Given the description of an element on the screen output the (x, y) to click on. 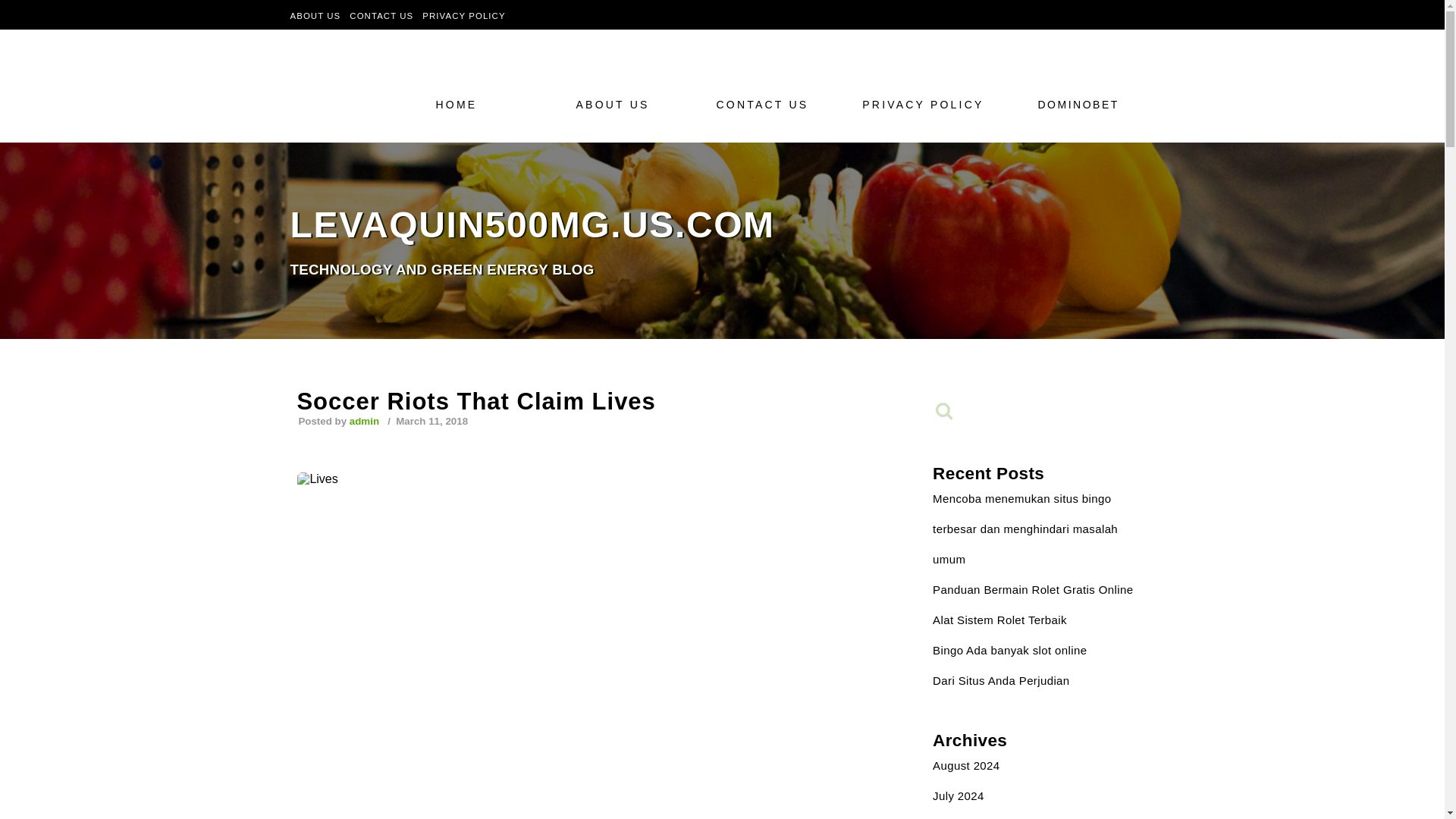
DOMINOBET (1084, 104)
PRIVACY POLICY (926, 104)
July 2024 (958, 795)
PRIVACY POLICY (463, 15)
CONTACT US (766, 104)
March 11, 2018 (430, 420)
CONTACT US (381, 15)
ABOUT US (721, 210)
Bingo Ada banyak slot online (314, 15)
Panduan Bermain Rolet Gratis Online (1009, 649)
HOME (1032, 589)
ABOUT US (483, 104)
Dari Situs Anda Perjudian (623, 104)
